Given the description of an element on the screen output the (x, y) to click on. 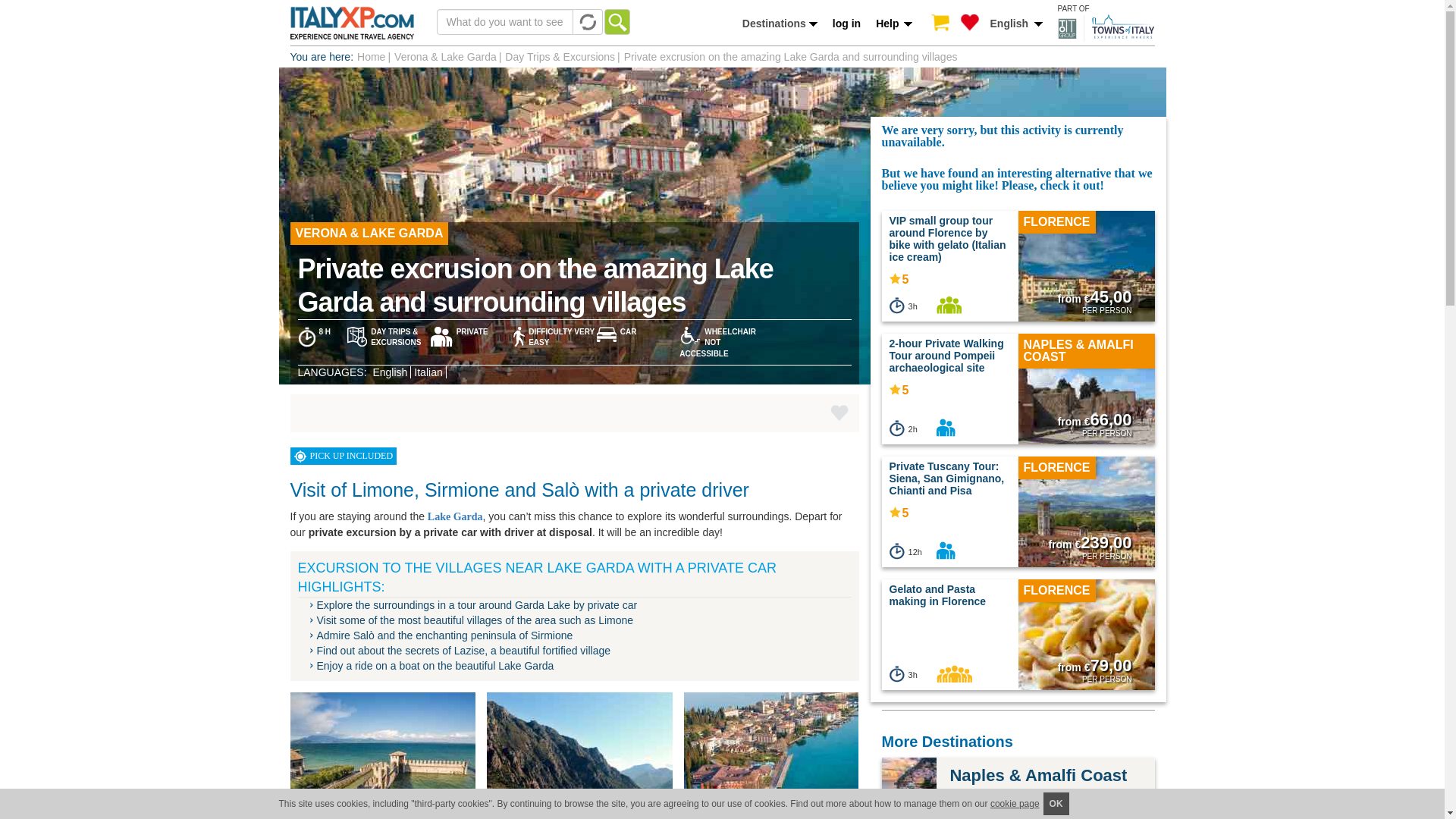
Help (892, 24)
Panorama on the Lake Garda (585, 755)
Limone on Garda Lake (782, 755)
semi-private (948, 304)
add to wishlist (838, 412)
Go (616, 22)
Lake Garda (455, 516)
Gelato and Pasta making in Florence (938, 595)
Castle of Sirmione (387, 755)
Private Tuscany Tour: Siena, San Gimignano, Chianti and Pisa (1085, 524)
Home (370, 56)
private (945, 550)
